Given the description of an element on the screen output the (x, y) to click on. 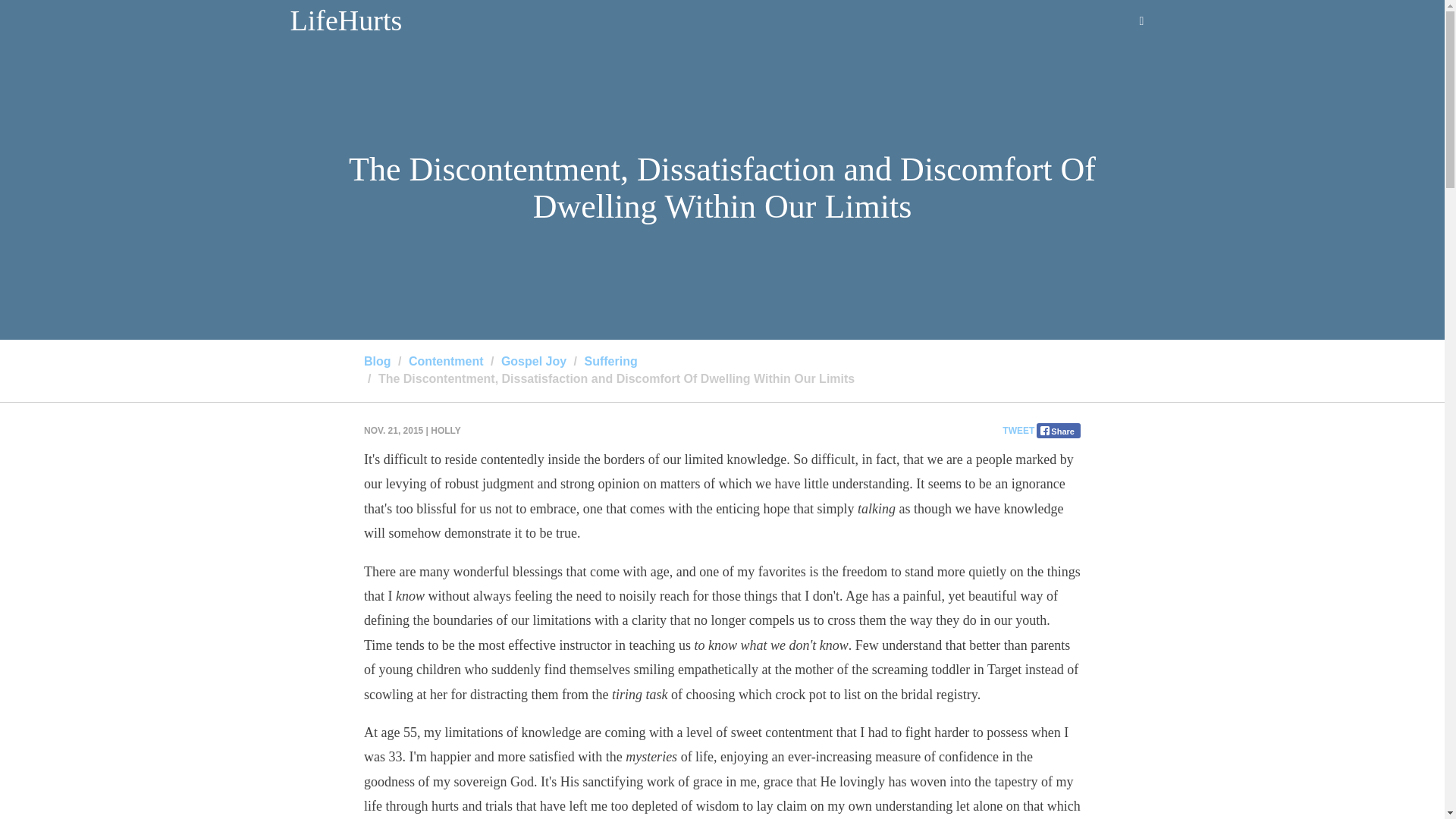
LifeHurts (345, 20)
TWEET (1018, 430)
Gospel Joy (533, 361)
Share  (1058, 430)
Contentment (446, 361)
Suffering (610, 361)
Blog (377, 361)
